Given the description of an element on the screen output the (x, y) to click on. 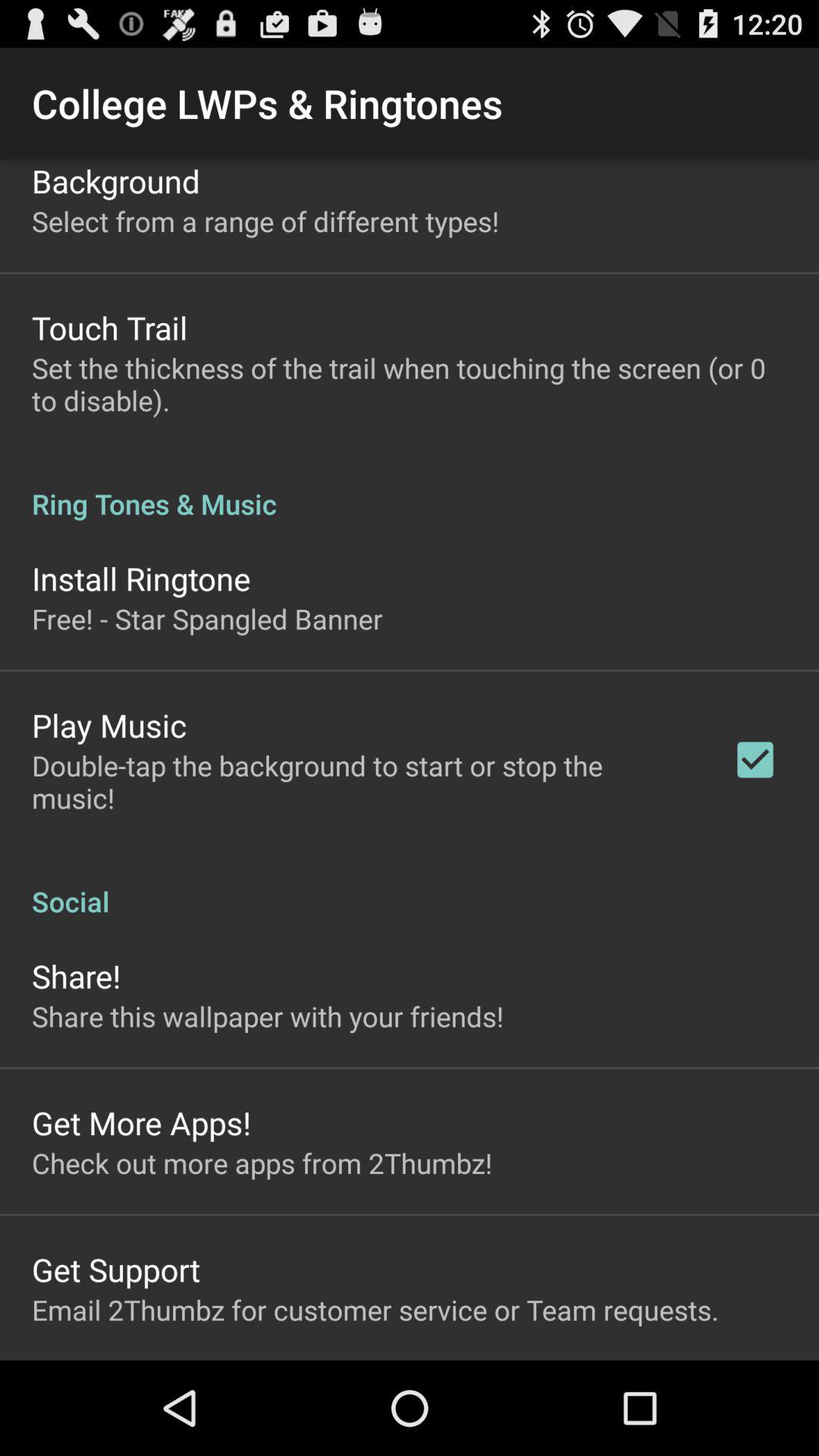
click app above ring tones & music (409, 384)
